Given the description of an element on the screen output the (x, y) to click on. 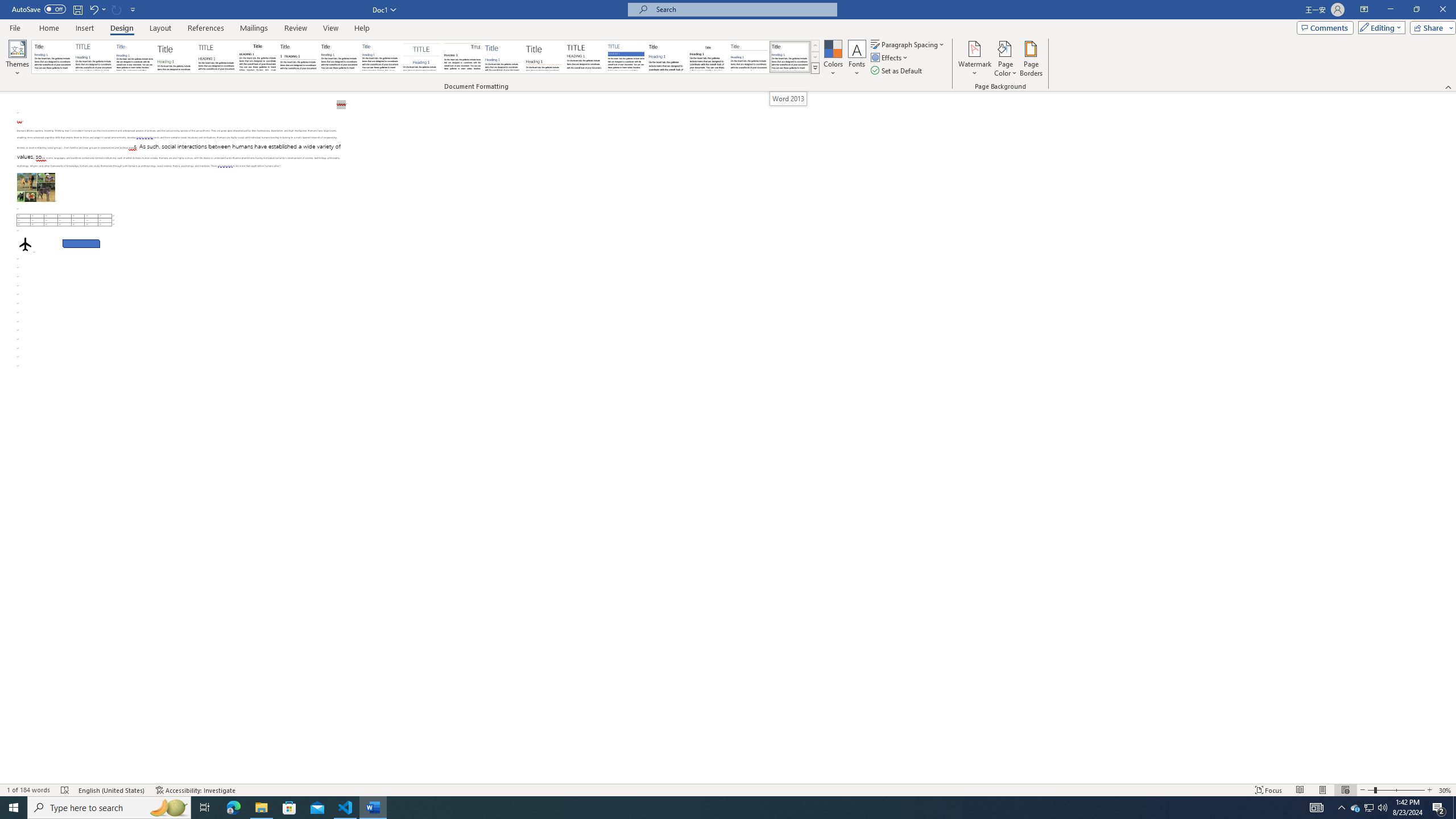
Class: MsoCommandBar (728, 45)
Word 2010 (749, 56)
Word Count 1 of 184 words (28, 790)
Basic (Stylish) (175, 56)
Lines (Simple) (503, 56)
